Given the description of an element on the screen output the (x, y) to click on. 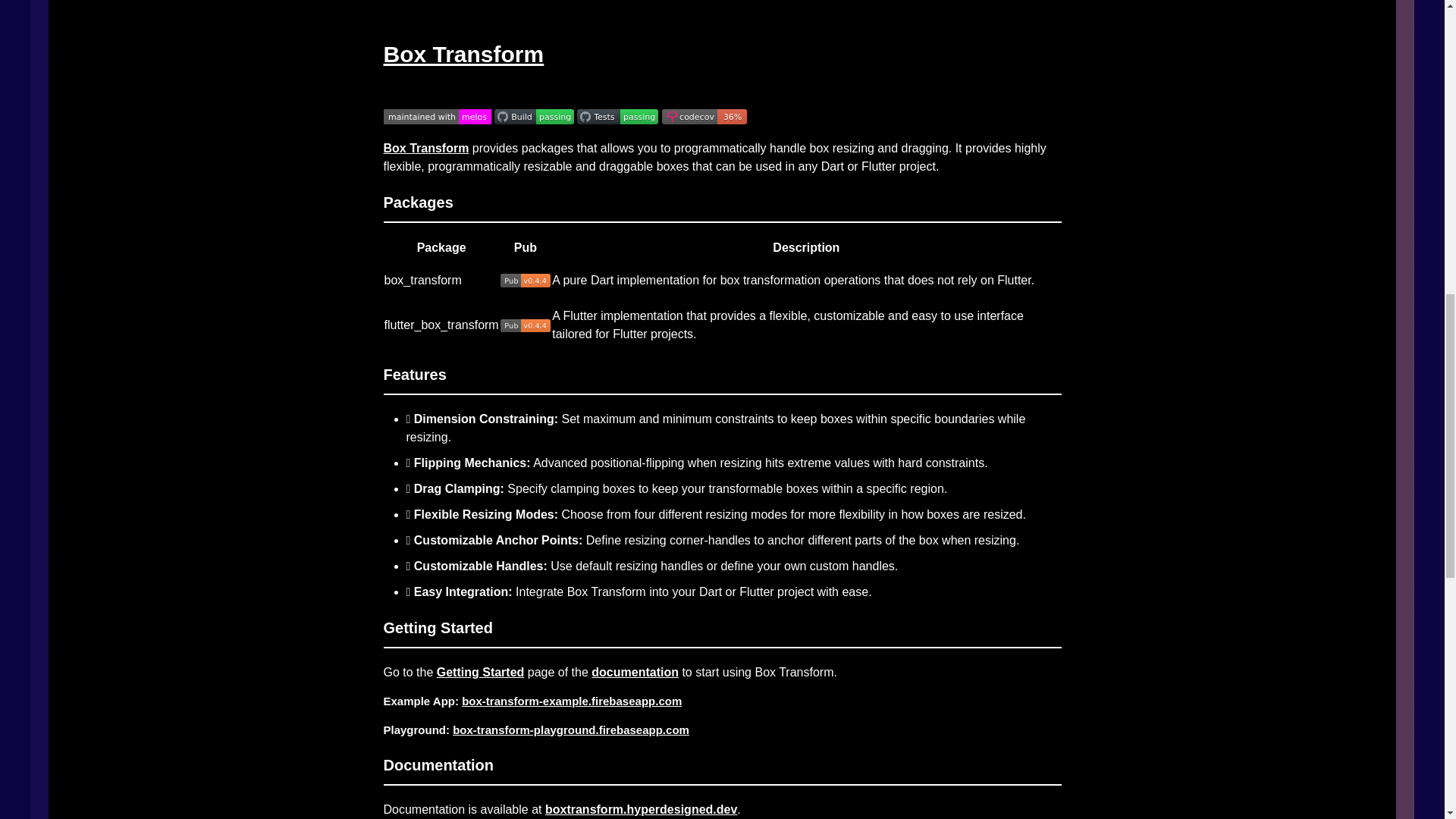
documentation (634, 671)
box-transform-example.firebaseapp.com (571, 700)
Box Transform (426, 147)
box-transform-playground.firebaseapp.com (570, 729)
Getting Started (480, 671)
boxtransform.hyperdesigned.dev (640, 809)
